Given the description of an element on the screen output the (x, y) to click on. 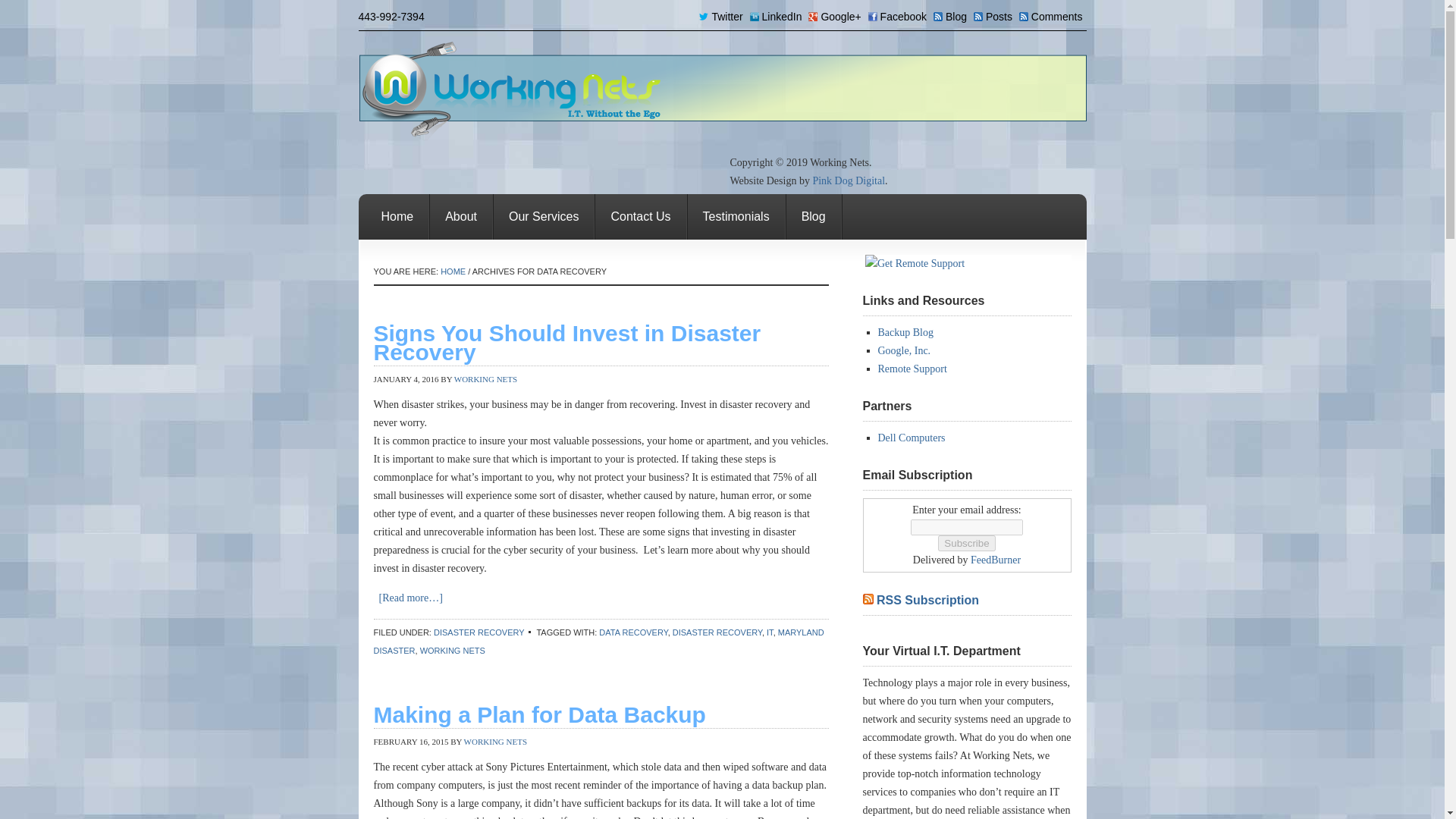
Posts (995, 16)
WORKING NETS (452, 650)
HOME (453, 271)
Home (397, 216)
Subscribe (965, 543)
WORKING NETS (495, 741)
2015-02-16T17:00:22-05:00 (410, 741)
Pink Dog Digital (848, 180)
DISASTER RECOVERY (478, 632)
Twitter (721, 16)
